Given the description of an element on the screen output the (x, y) to click on. 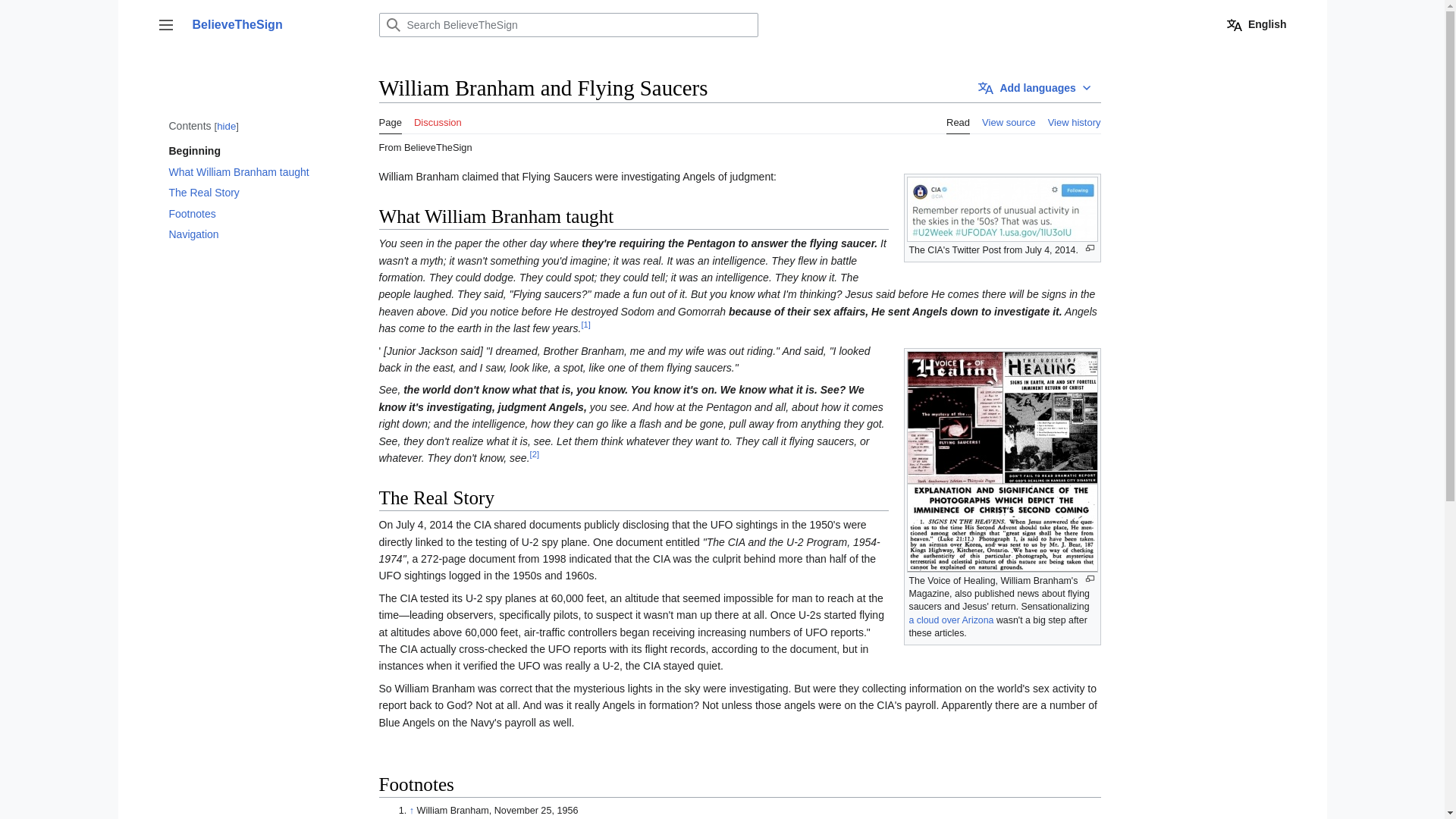
Search (392, 24)
Go (392, 24)
BelieveTheSign (276, 24)
View source (1008, 118)
Go (392, 24)
Discussion (437, 118)
Beginning (250, 150)
View history (1074, 118)
hide (226, 125)
Footnotes (245, 213)
Search (392, 24)
Navigation (245, 234)
What William Branham taught (245, 171)
Search the pages for this text (392, 24)
Main menu (165, 24)
